Given the description of an element on the screen output the (x, y) to click on. 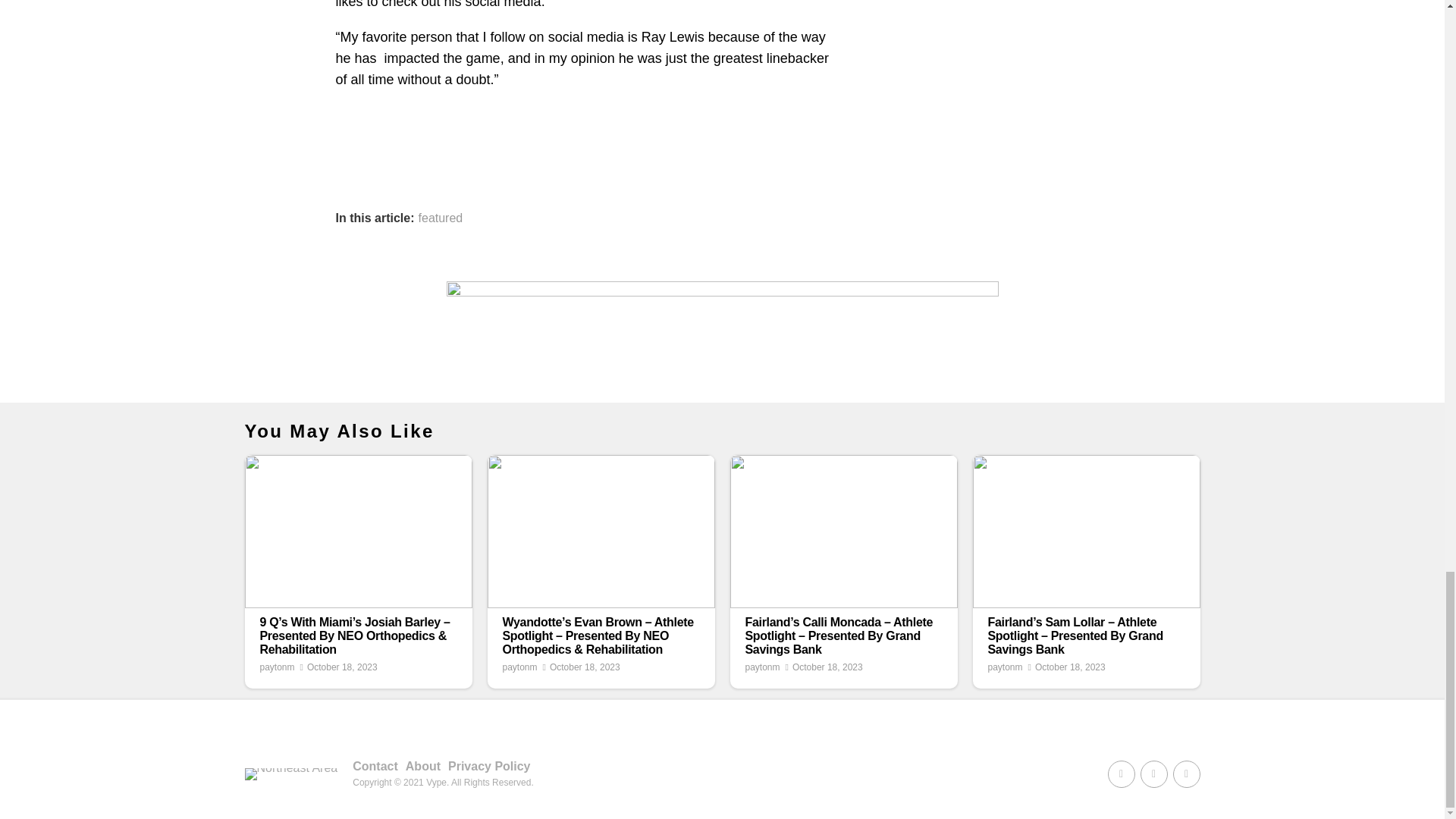
Posts by paytonm (1004, 666)
Posts by paytonm (519, 666)
Posts by paytonm (276, 666)
Posts by paytonm (761, 666)
